Given the description of an element on the screen output the (x, y) to click on. 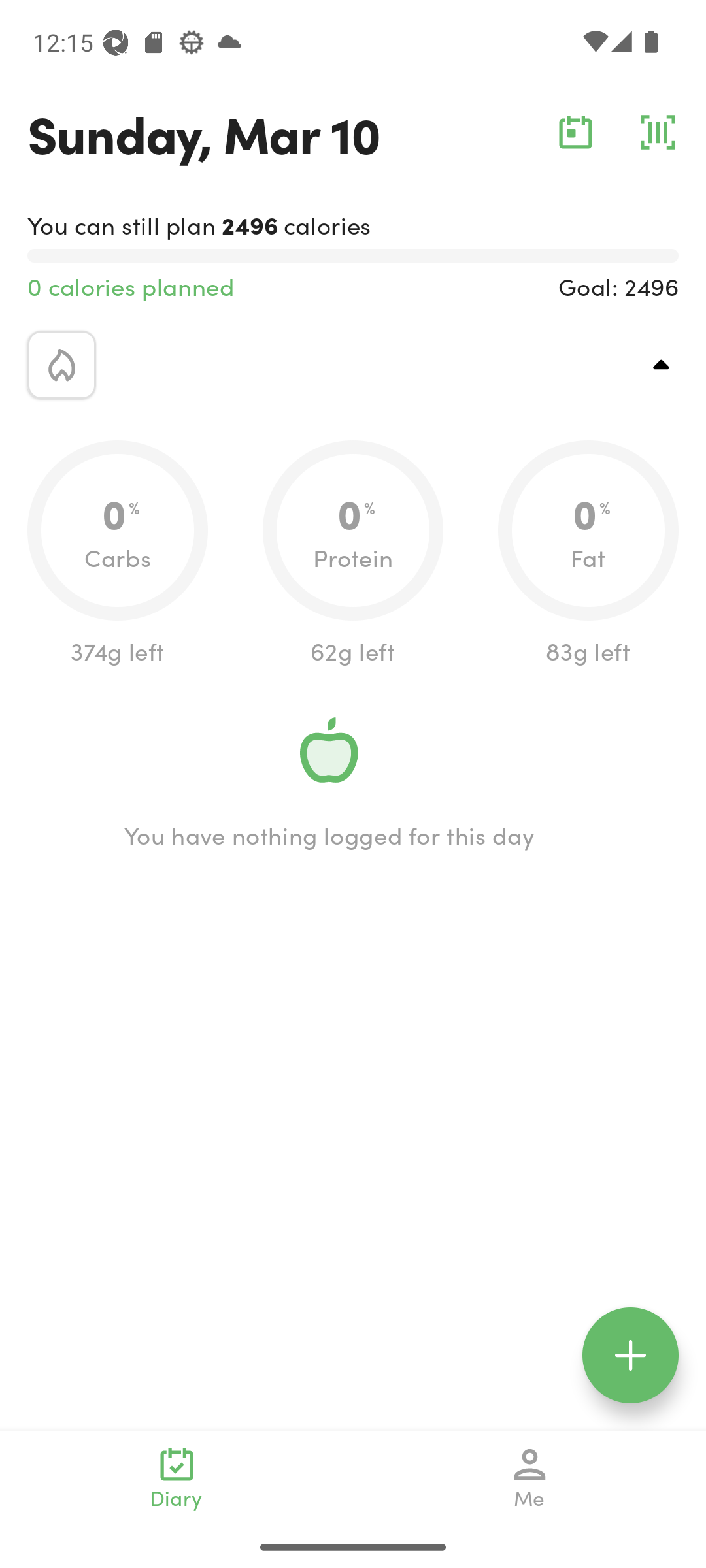
calendar_action (575, 132)
barcode_action (658, 132)
calorie_icon (62, 365)
top_right_action (661, 365)
0.0 0 % Carbs 374g left (117, 553)
0.0 0 % Protein 62g left (352, 553)
0.0 0 % Fat 83g left (588, 553)
floating_action_icon (630, 1355)
Me navigation_icon (529, 1478)
